Given the description of an element on the screen output the (x, y) to click on. 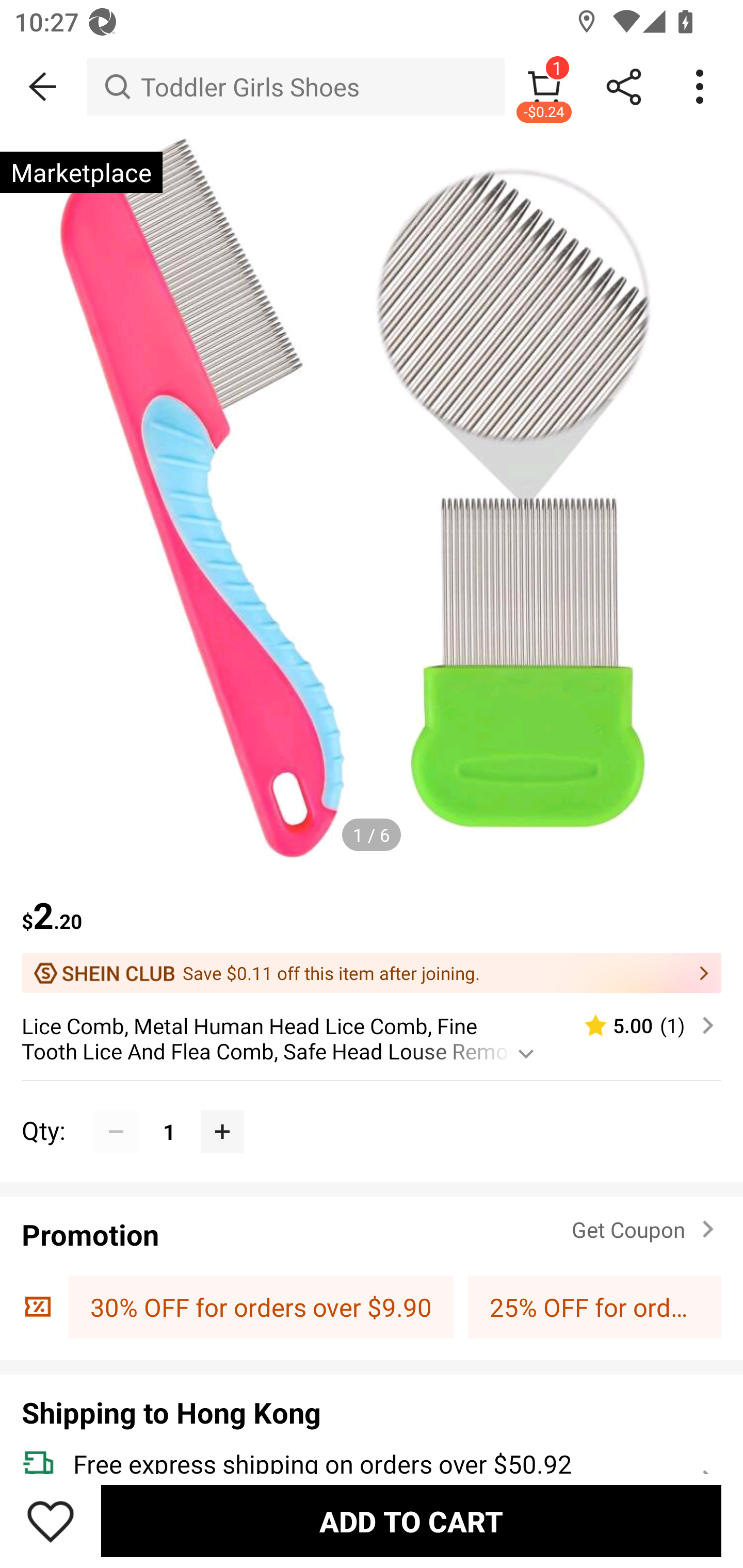
BACK (43, 86)
1 -$0.24 (543, 87)
Toddler Girls Shoes (295, 87)
PHOTOS Marketplace 1 / 6 (371, 501)
1 / 6 (371, 834)
$2.20 Save $0.11 off this item after joining. (371, 932)
Save $0.11 off this item after joining. (371, 972)
5.00 (1) (640, 1025)
Qty: 1 (371, 1110)
ADD TO CART (411, 1520)
Save (50, 1520)
